Given the description of an element on the screen output the (x, y) to click on. 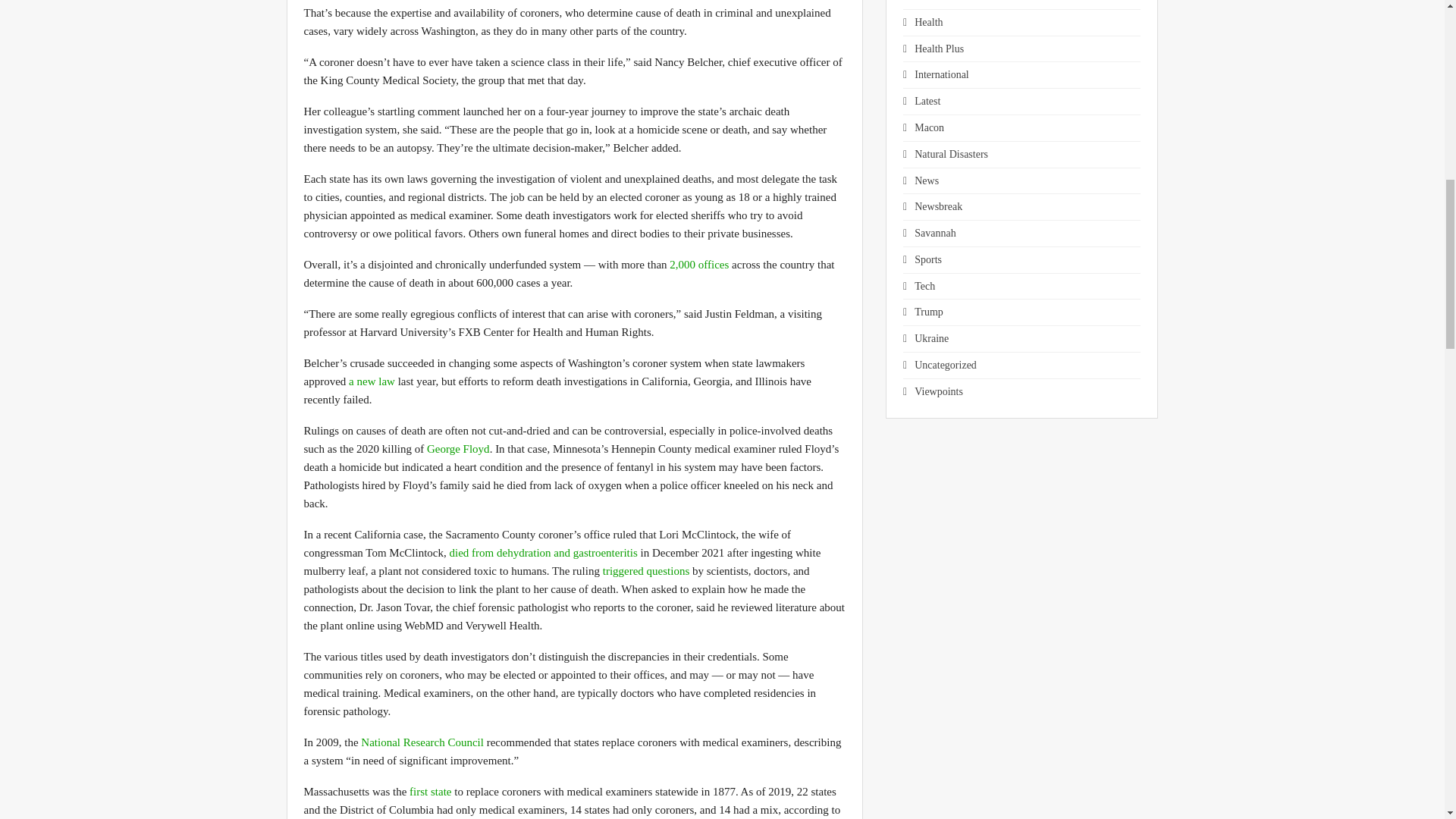
triggered questions (646, 571)
died from dehydration and gastroenteritis (542, 552)
George Floyd (457, 449)
a new law (371, 381)
National Research Council (422, 742)
2,000 offices (699, 264)
first state (430, 791)
